Given the description of an element on the screen output the (x, y) to click on. 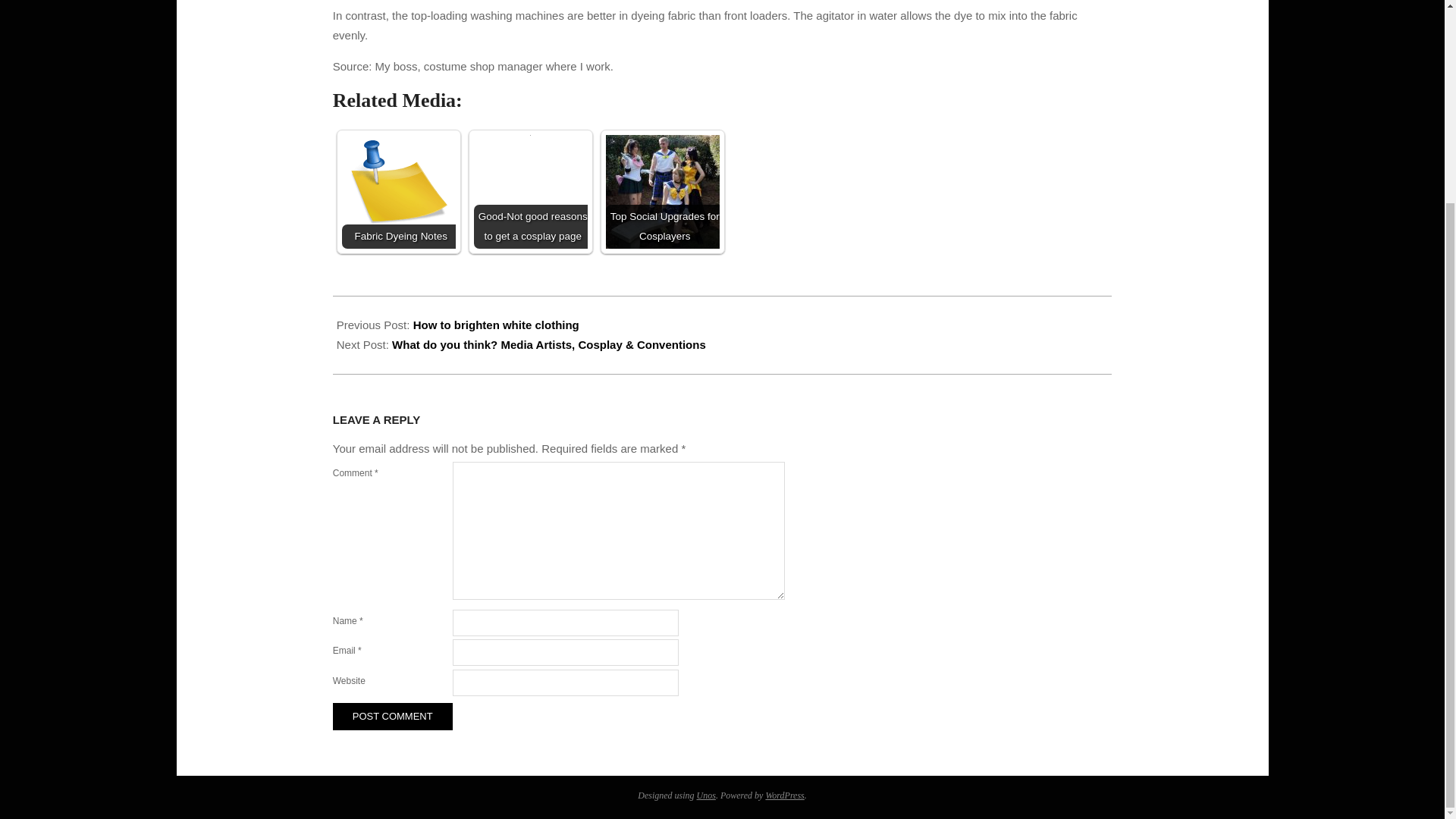
Unos (706, 795)
How to brighten white clothing (496, 324)
Good-Not good reasons to get a cosplay page (531, 191)
Post Comment (392, 716)
WordPress (784, 795)
Fabric Dyeing Notes (398, 191)
Fabric Dyeing Notes (398, 191)
Unos WordPress Theme (706, 795)
Top Social Upgrades for Cosplayers (662, 191)
